Given the description of an element on the screen output the (x, y) to click on. 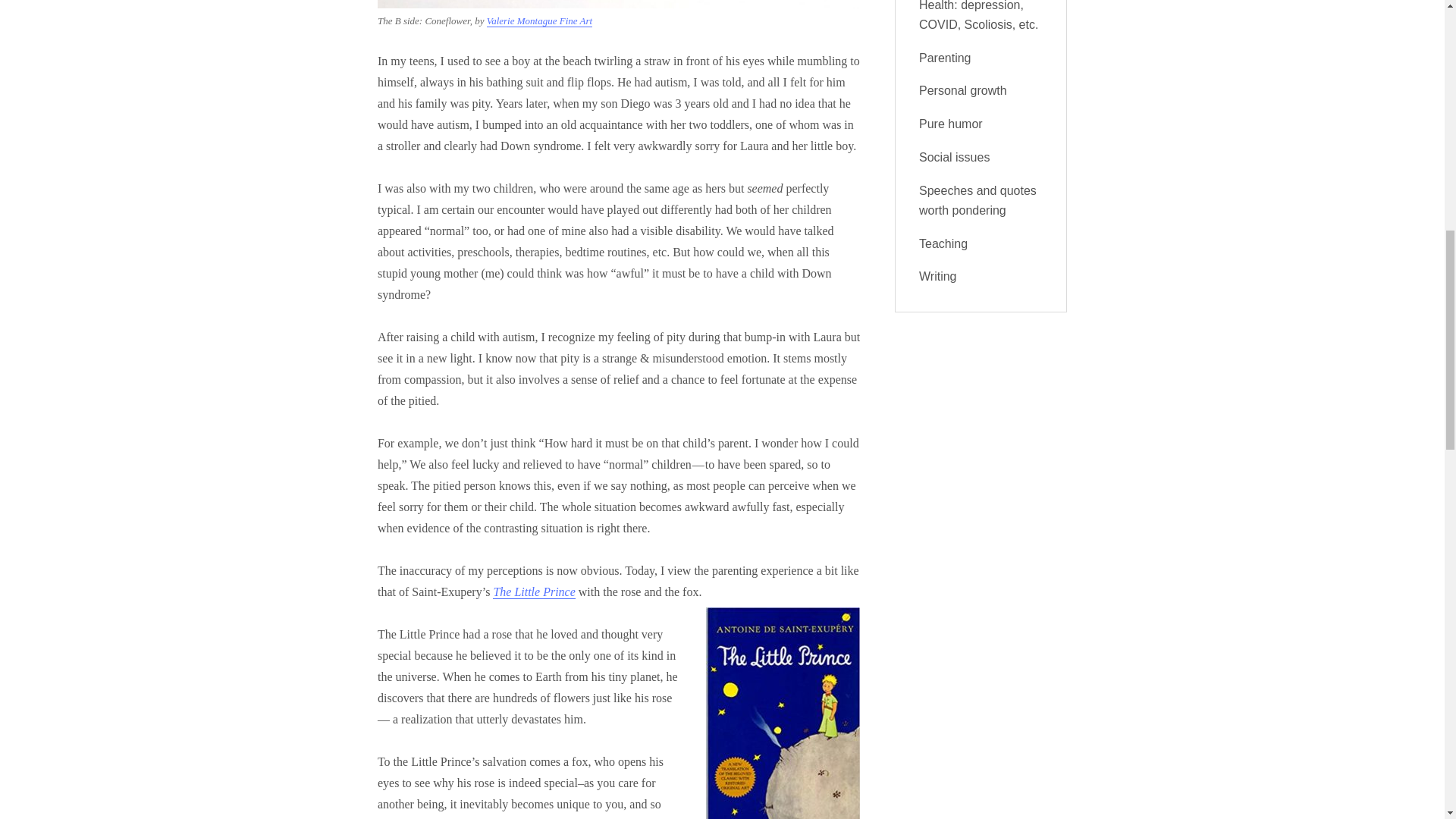
Social issues (954, 156)
Pure humor (950, 123)
Parenting (944, 57)
Teaching (943, 243)
Writing (937, 276)
Health: depression, COVID, Scoliosis, etc. (978, 15)
The Little Prince (534, 591)
Speeches and quotes worth pondering (977, 200)
Personal growth (962, 90)
Valerie Montague Fine Art (539, 20)
